Given the description of an element on the screen output the (x, y) to click on. 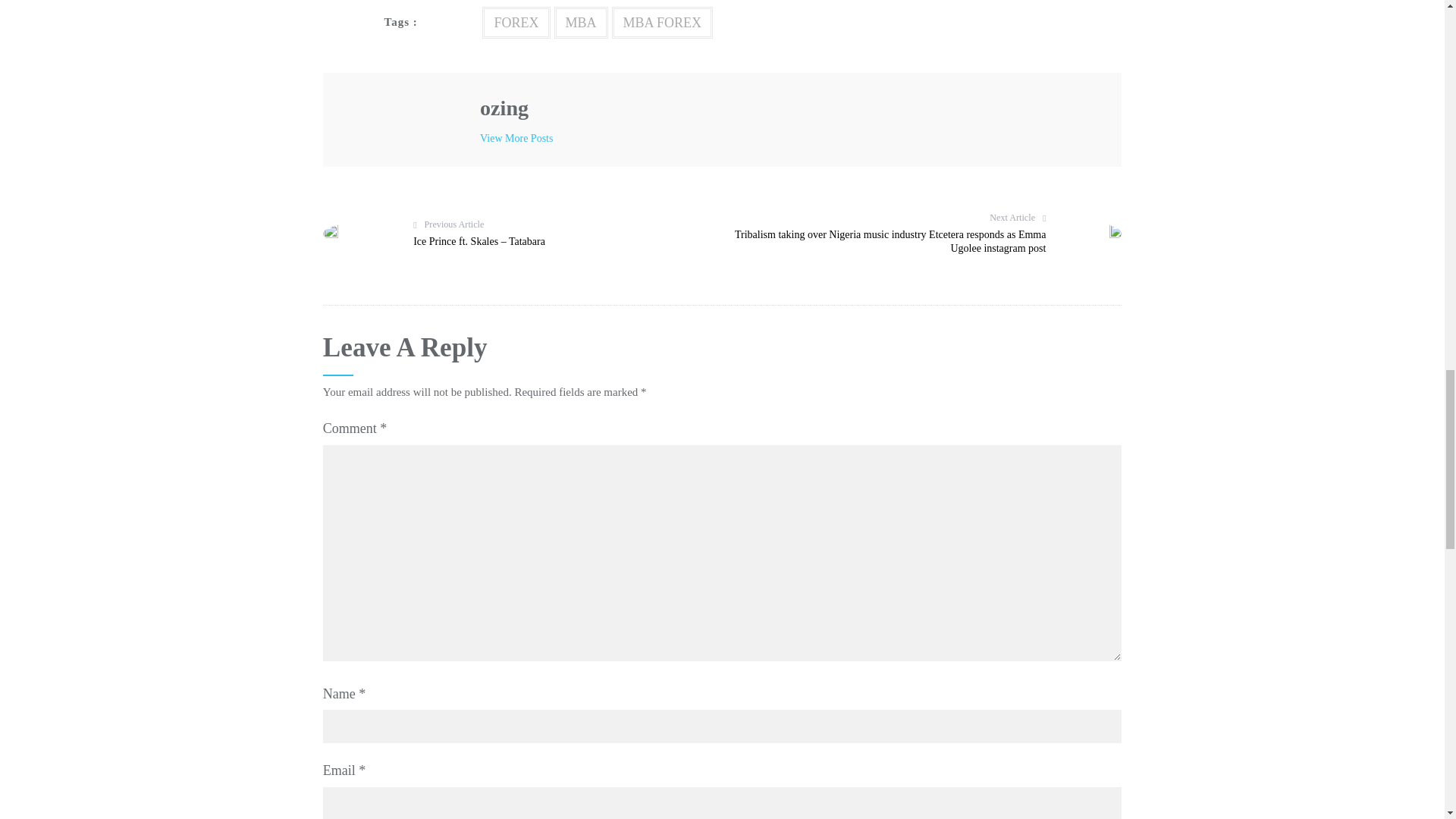
MBA FOREX (662, 22)
View More Posts (516, 138)
MBA (580, 22)
FOREX (515, 22)
